Given the description of an element on the screen output the (x, y) to click on. 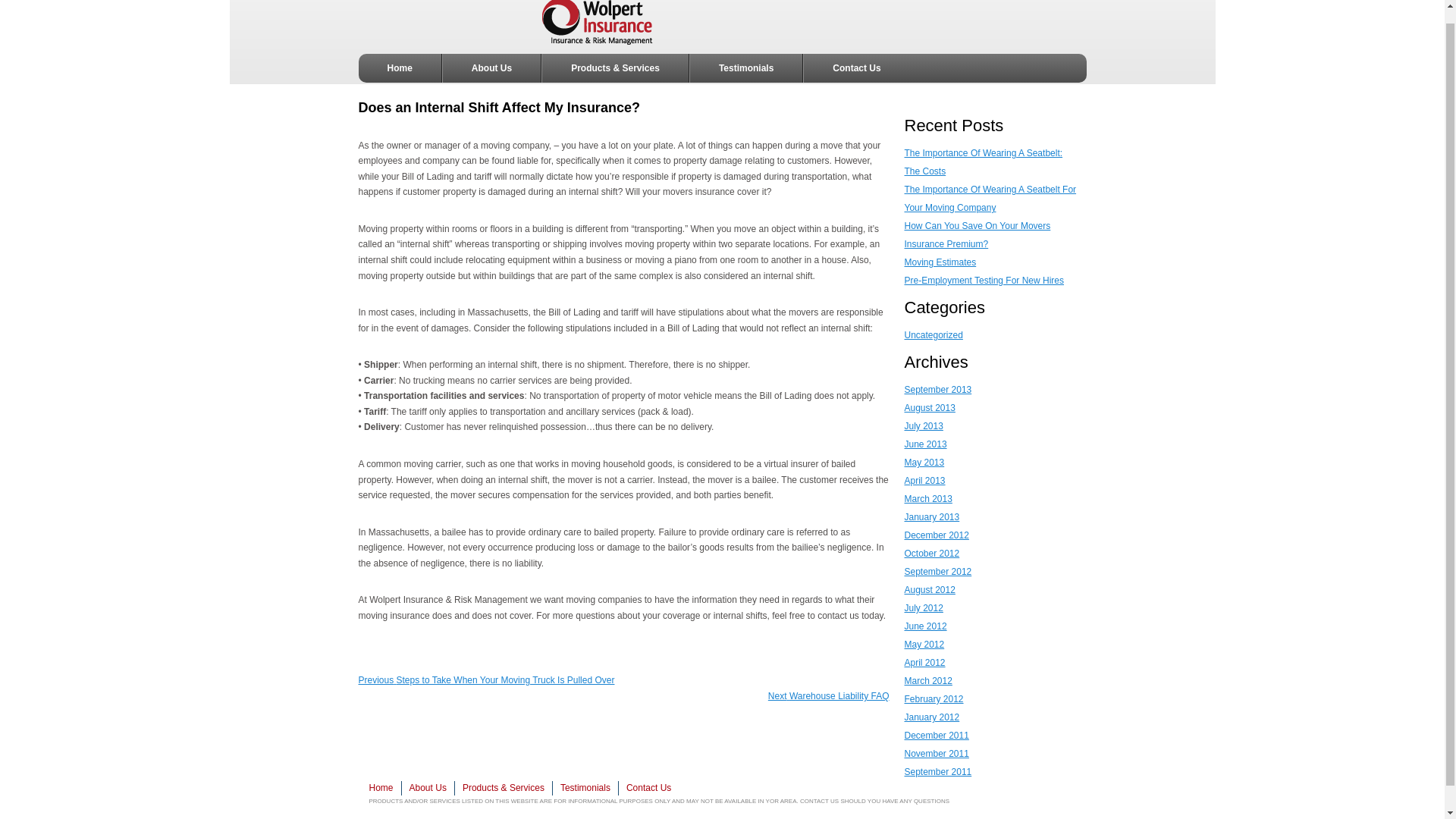
About Us (427, 788)
August 2012 (929, 589)
Contact Us (855, 68)
Uncategorized (933, 335)
April 2012 (924, 662)
Pre-Employment Testing For New Hires (984, 280)
Movers Select Insurance (440, 23)
September 2012 (937, 571)
Home (384, 788)
